Given the description of an element on the screen output the (x, y) to click on. 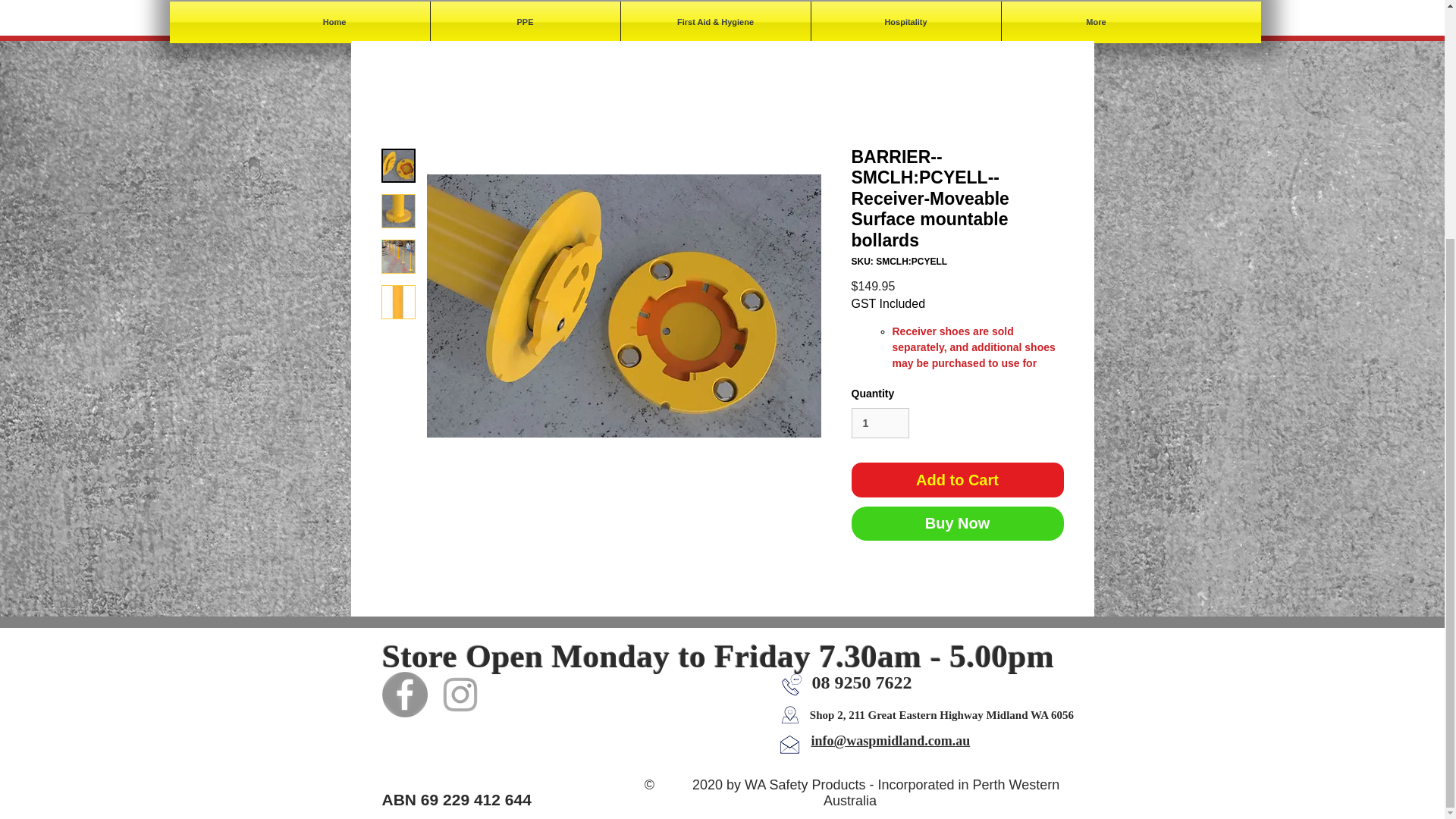
Home (334, 21)
PPE (525, 21)
1 (879, 422)
Hospitality (905, 21)
